Given the description of an element on the screen output the (x, y) to click on. 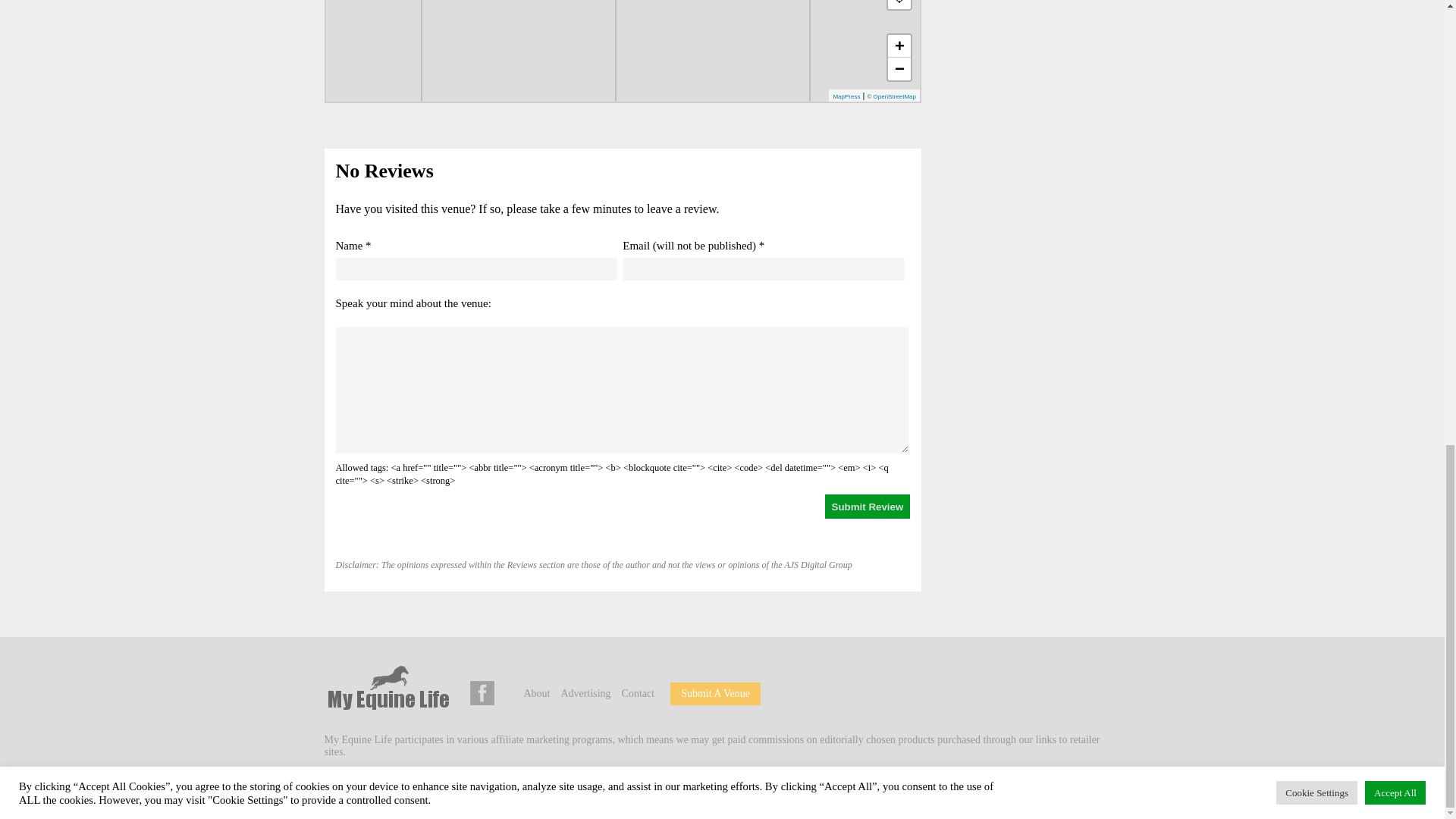
MapPress (846, 96)
About (536, 693)
Submit A Venue (715, 693)
Contact (638, 693)
Your Location (899, 5)
Submit Review (867, 506)
AJS Digital Group (430, 787)
Terms of Use (597, 787)
Submit Review (867, 506)
Advertising (585, 693)
